Given the description of an element on the screen output the (x, y) to click on. 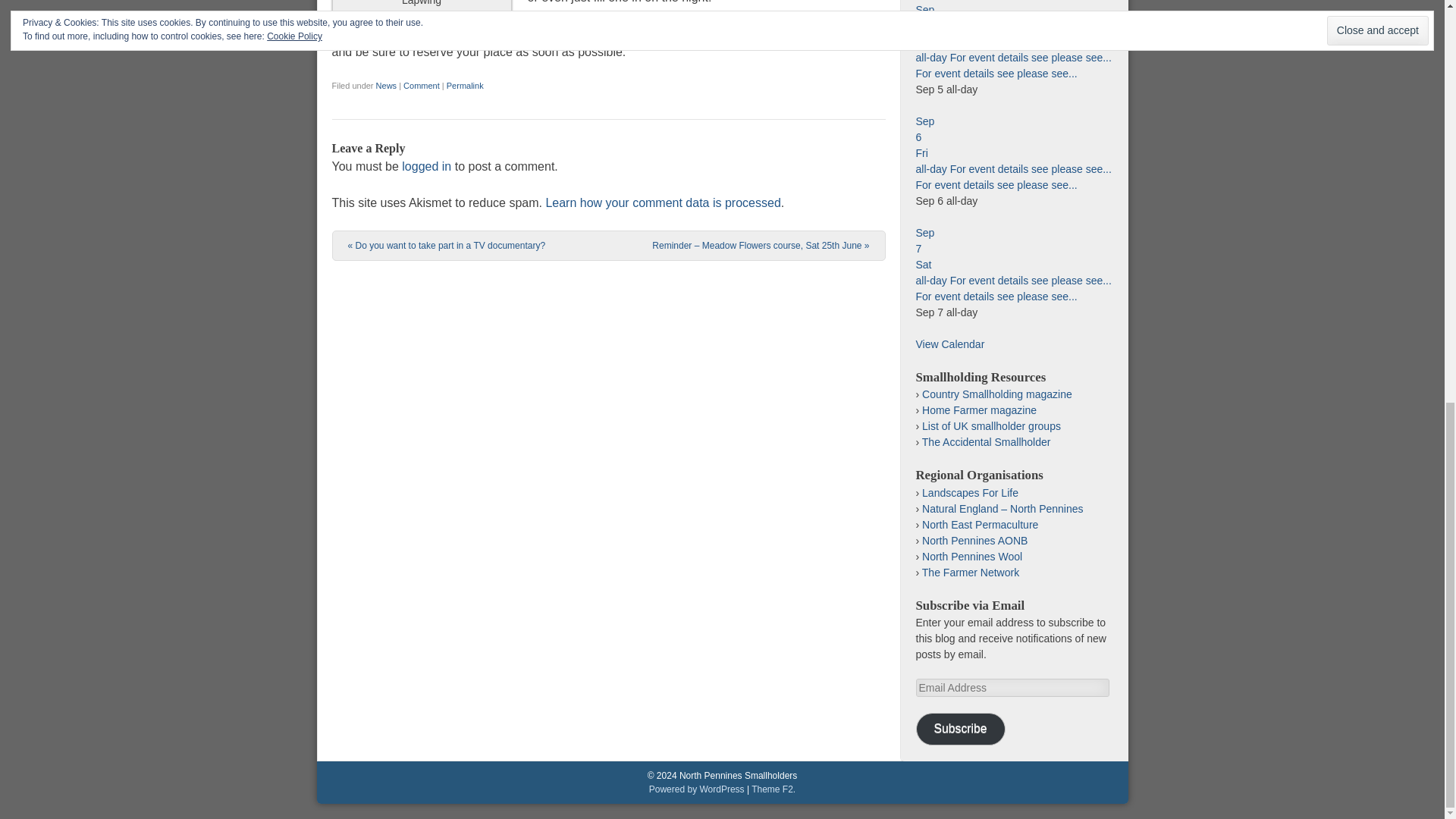
Smallholding reference information and forum (986, 441)
calendar entry for this event (700, 33)
all-day For event details see please see... (1013, 57)
News (386, 85)
For event details see please see... (996, 73)
Permanent Link to Reminder: NPS Open Meeting (464, 85)
Learn how your comment data is processed (662, 202)
Magazine and book sales (978, 410)
